Given the description of an element on the screen output the (x, y) to click on. 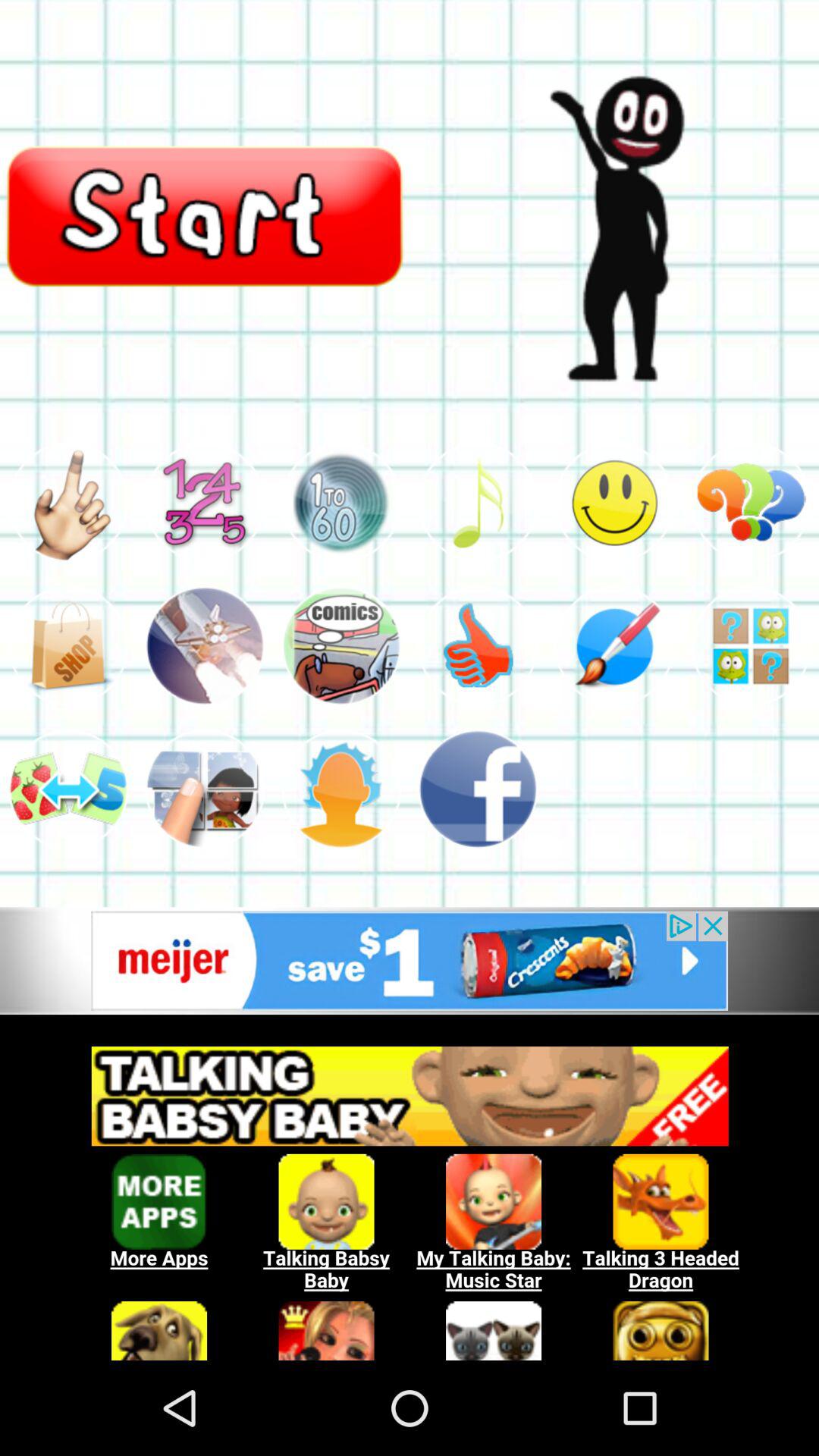
advertisement banner (409, 1195)
